Given the description of an element on the screen output the (x, y) to click on. 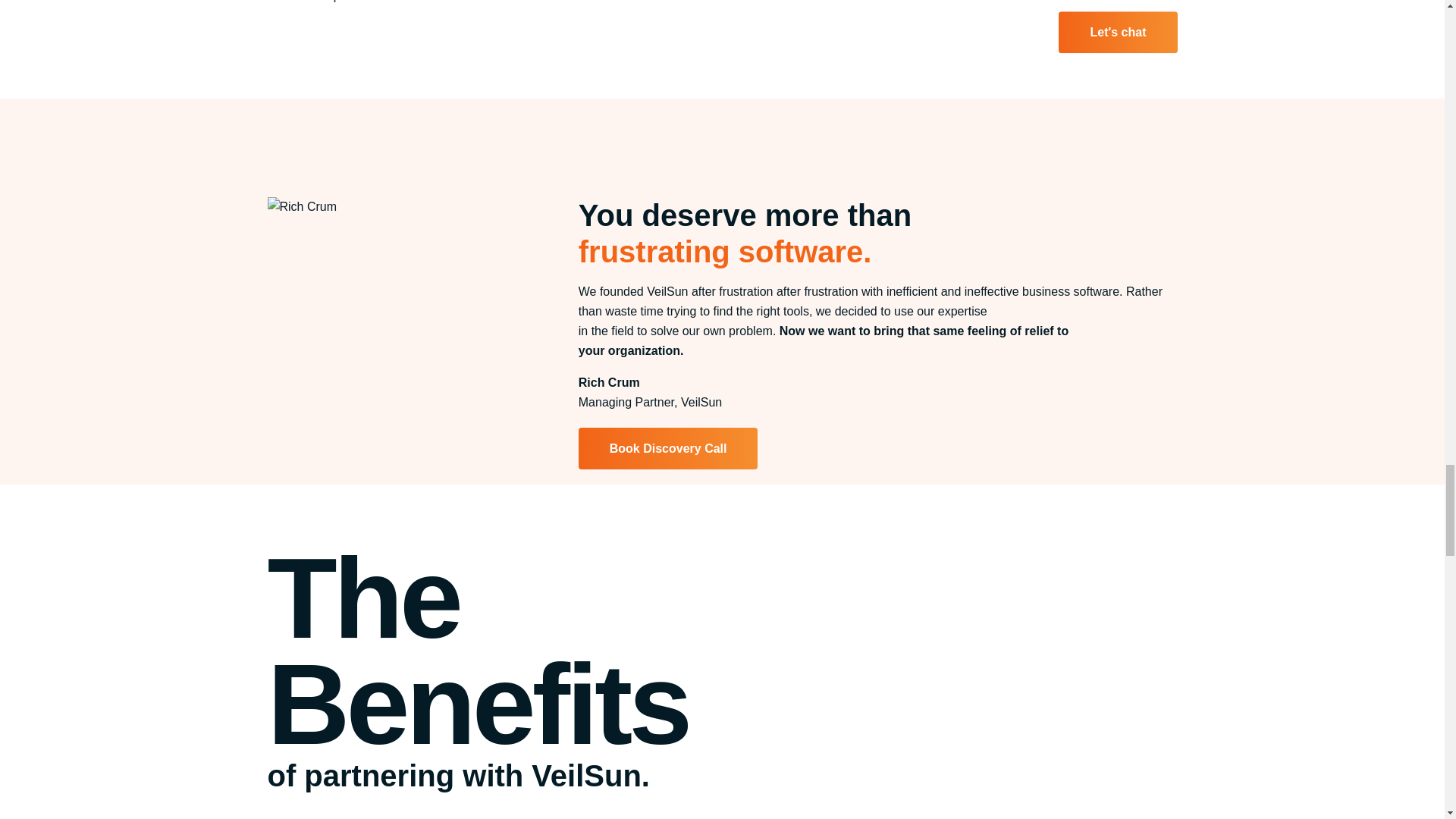
Button Book Discovery Call (668, 448)
